Given the description of an element on the screen output the (x, y) to click on. 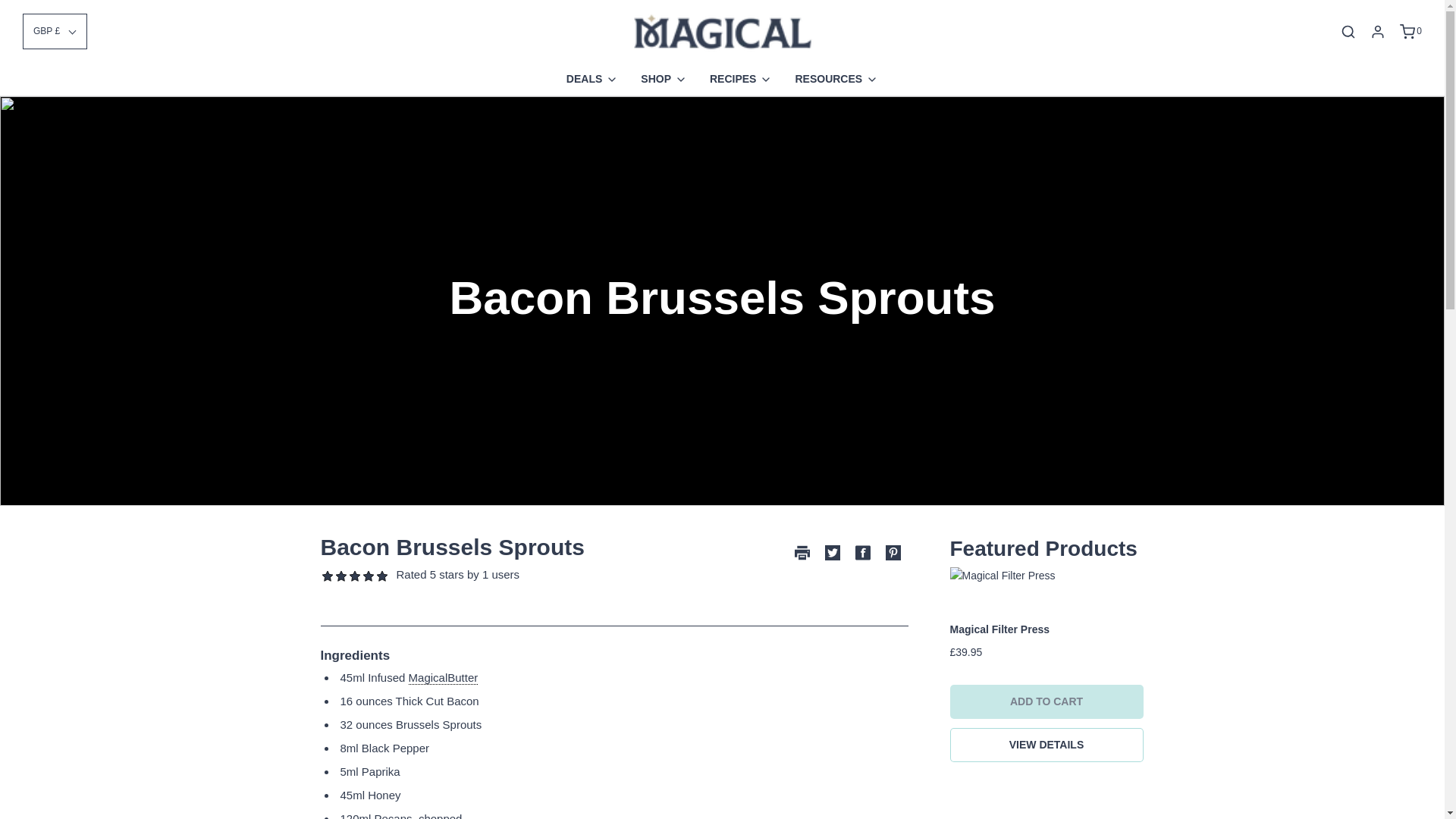
Cart (1409, 31)
Magical Filter Press (1045, 575)
Search (1347, 31)
Log in (1377, 31)
